Given the description of an element on the screen output the (x, y) to click on. 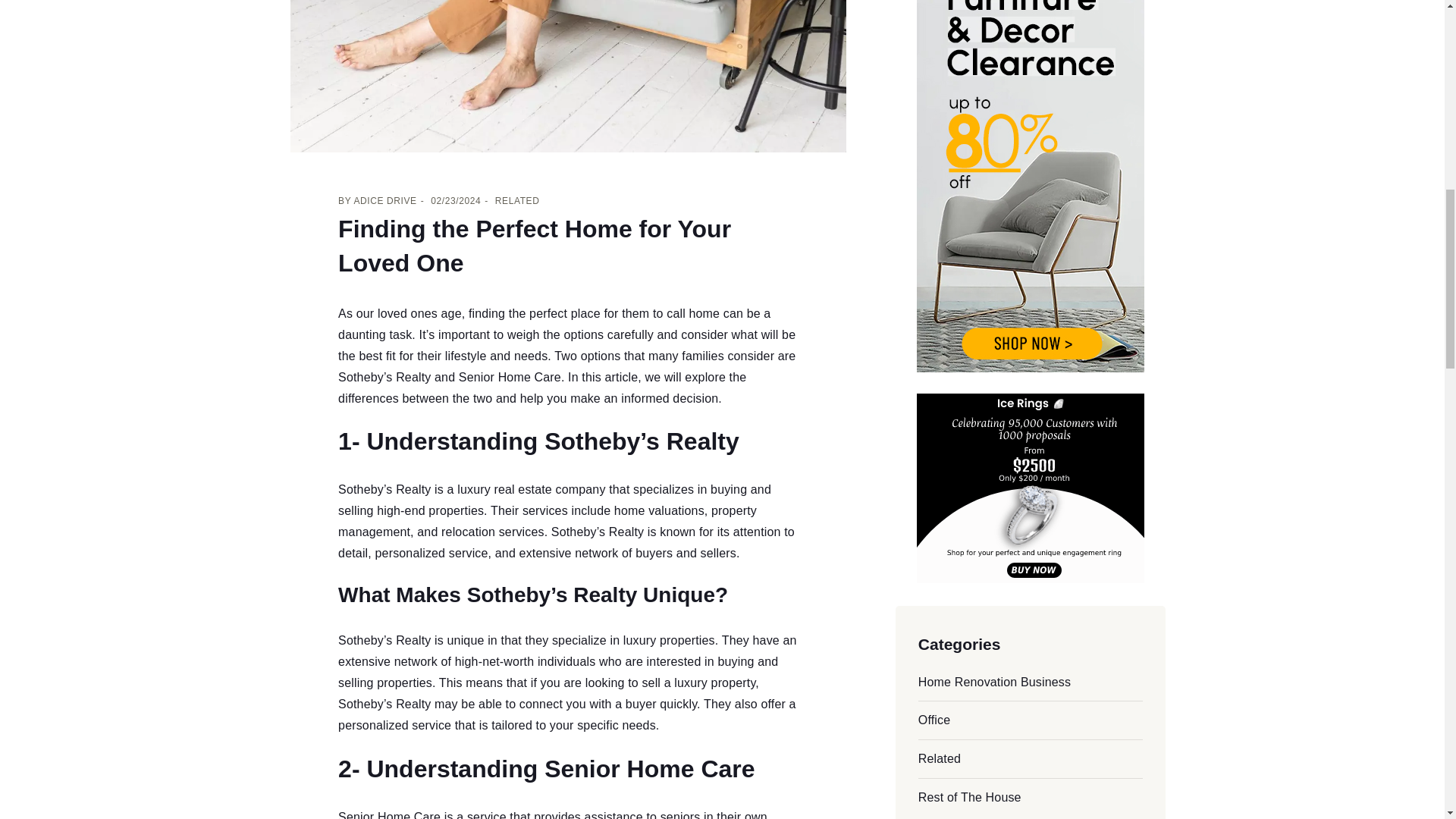
Home Renovation Business (994, 681)
Rest of The House (970, 797)
ADICE DRIVE (384, 200)
Related (939, 758)
Office (934, 719)
Posts by Adice Drive (384, 200)
RELATED (517, 200)
Finding the Perfect Home for Your Loved One (533, 245)
